Given the description of an element on the screen output the (x, y) to click on. 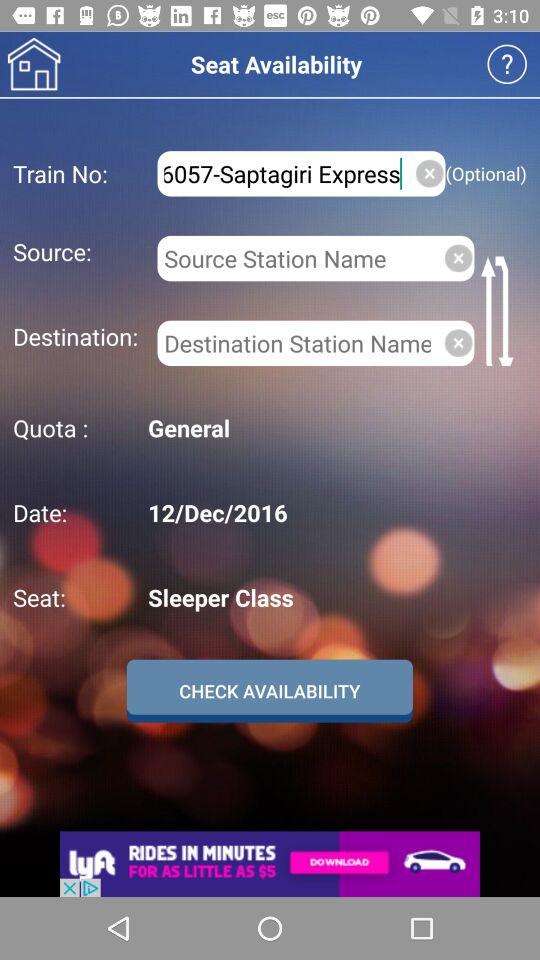
choose 12/dec/2016 (333, 512)
